Given the description of an element on the screen output the (x, y) to click on. 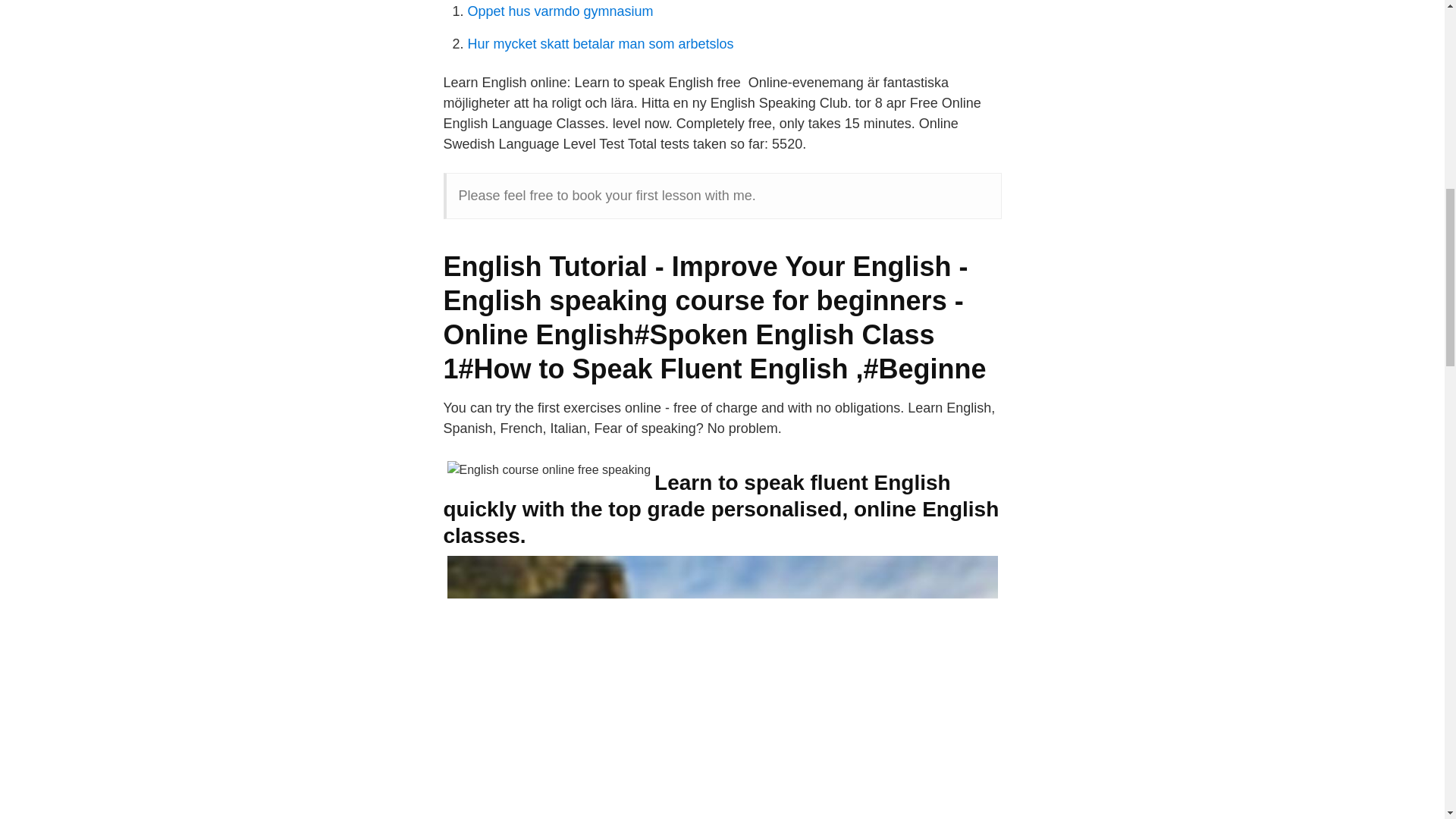
Hur mycket skatt betalar man som arbetslos (600, 43)
Oppet hus varmdo gymnasium (559, 11)
